Given the description of an element on the screen output the (x, y) to click on. 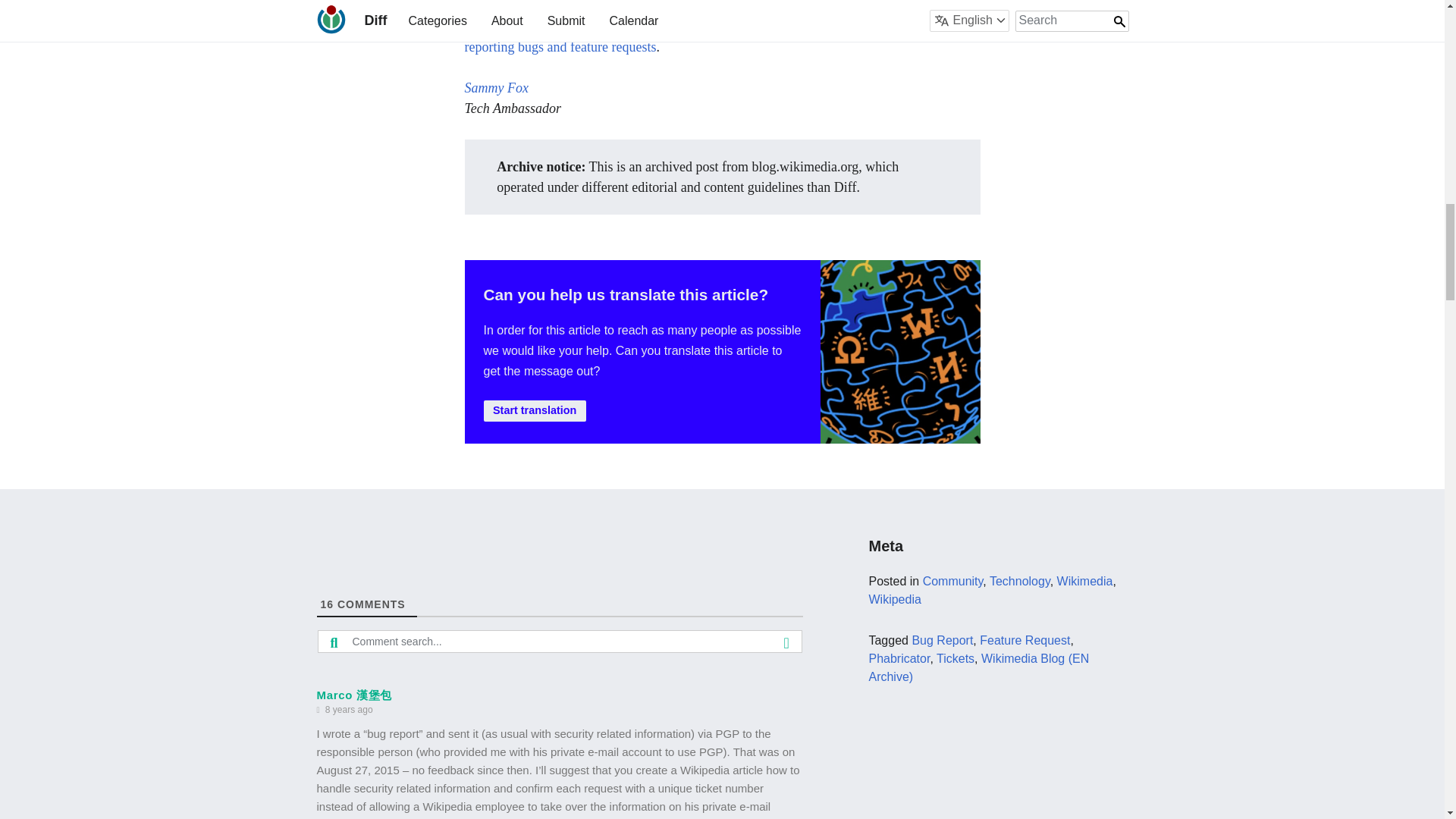
Technology (1019, 581)
Feature Request (1024, 640)
en:User:Samtar (495, 87)
on its help page (731, 26)
Sammy Fox (495, 87)
Bug Report (941, 640)
Wikimedia (1085, 581)
Wikipedia (893, 599)
Start translation (534, 410)
16 (326, 604)
